Given the description of an element on the screen output the (x, y) to click on. 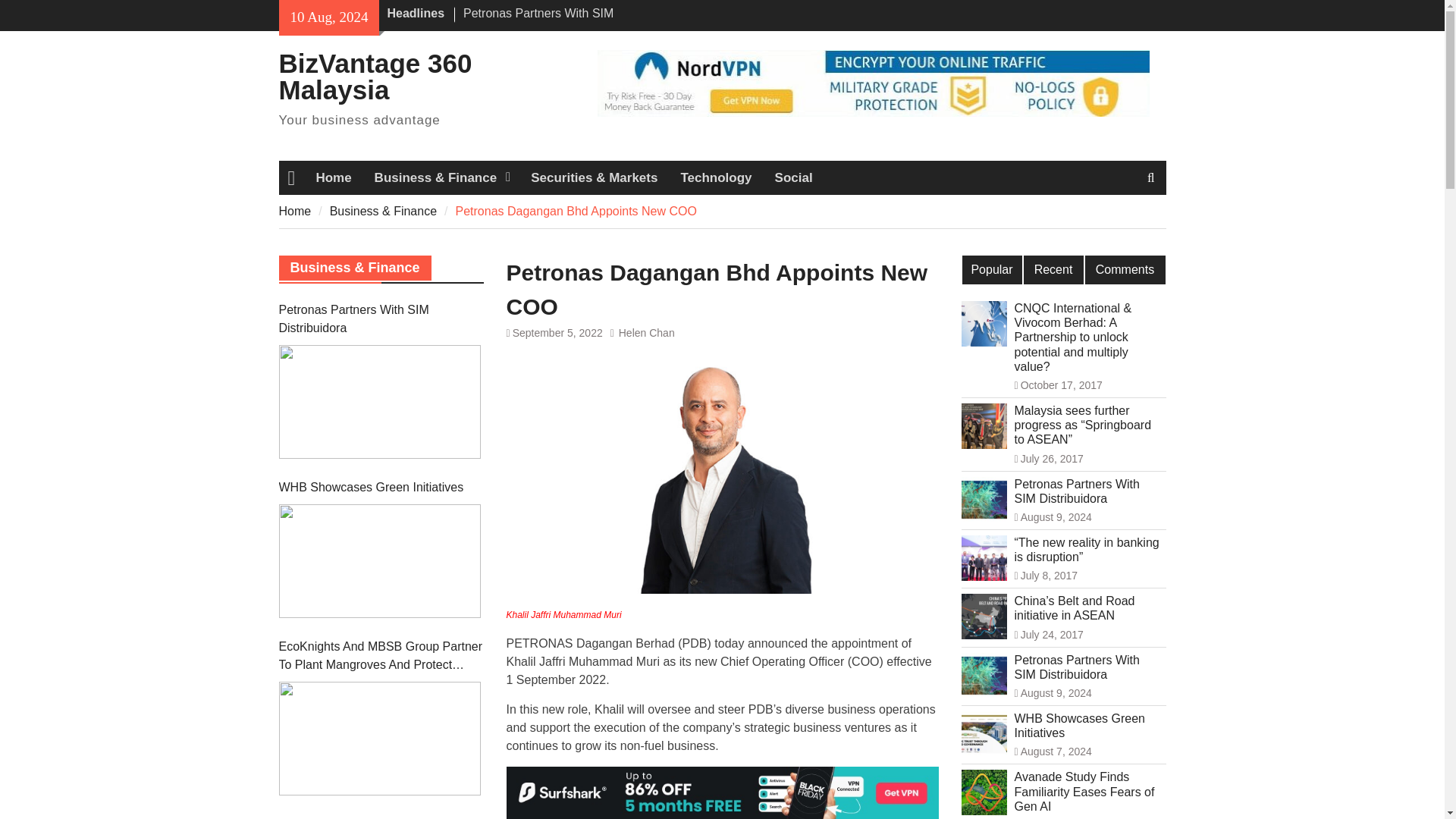
Home (295, 210)
Popular (991, 269)
Technology (715, 177)
BizVantage 360 Malaysia (375, 76)
Social (793, 177)
September 5, 2022 (557, 332)
Recent (1053, 269)
Home (333, 177)
Comments (1124, 269)
Petronas Partners With SIM Distribuidora (537, 21)
